Given the description of an element on the screen output the (x, y) to click on. 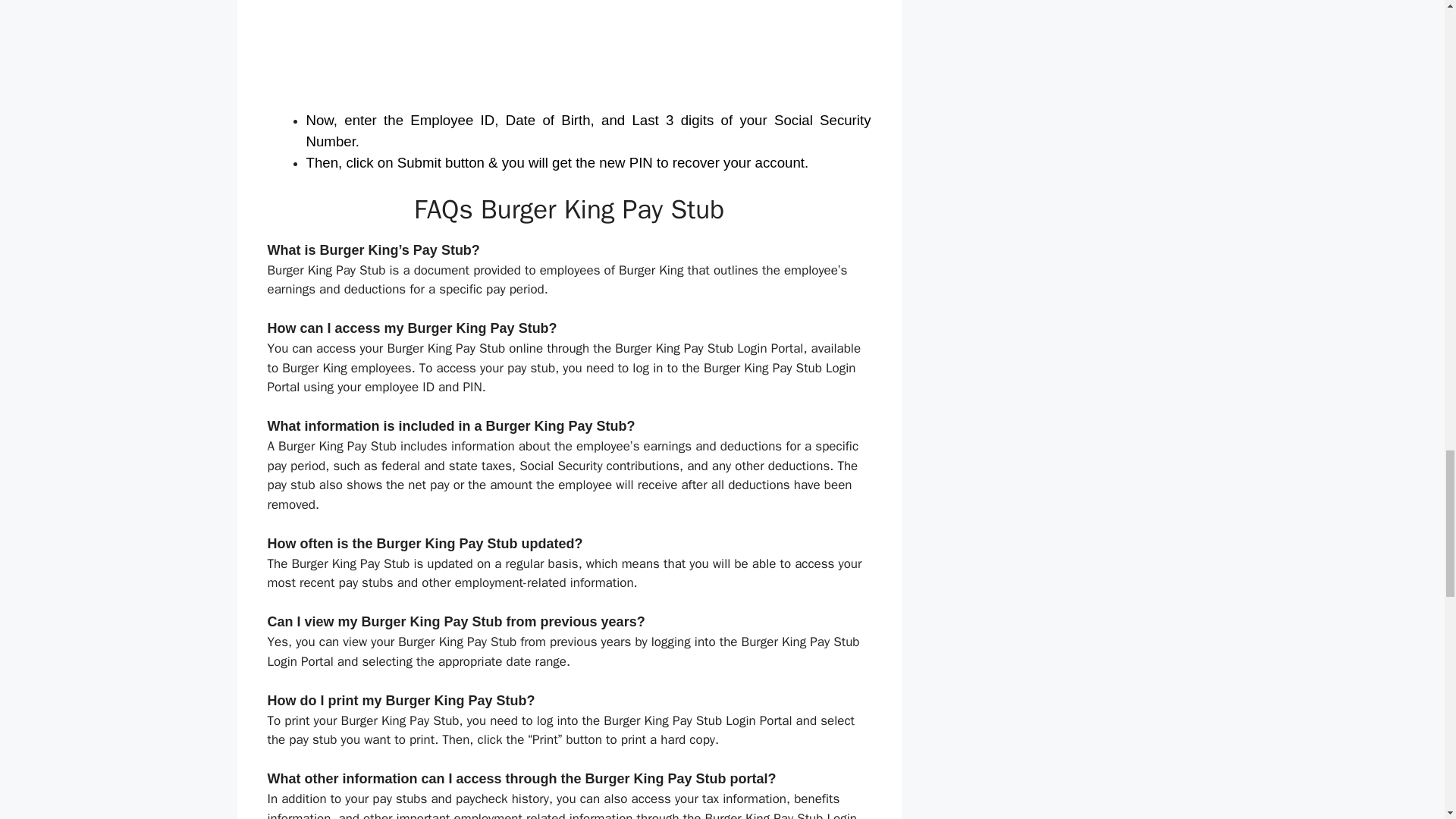
Advertisement (568, 54)
